Given the description of an element on the screen output the (x, y) to click on. 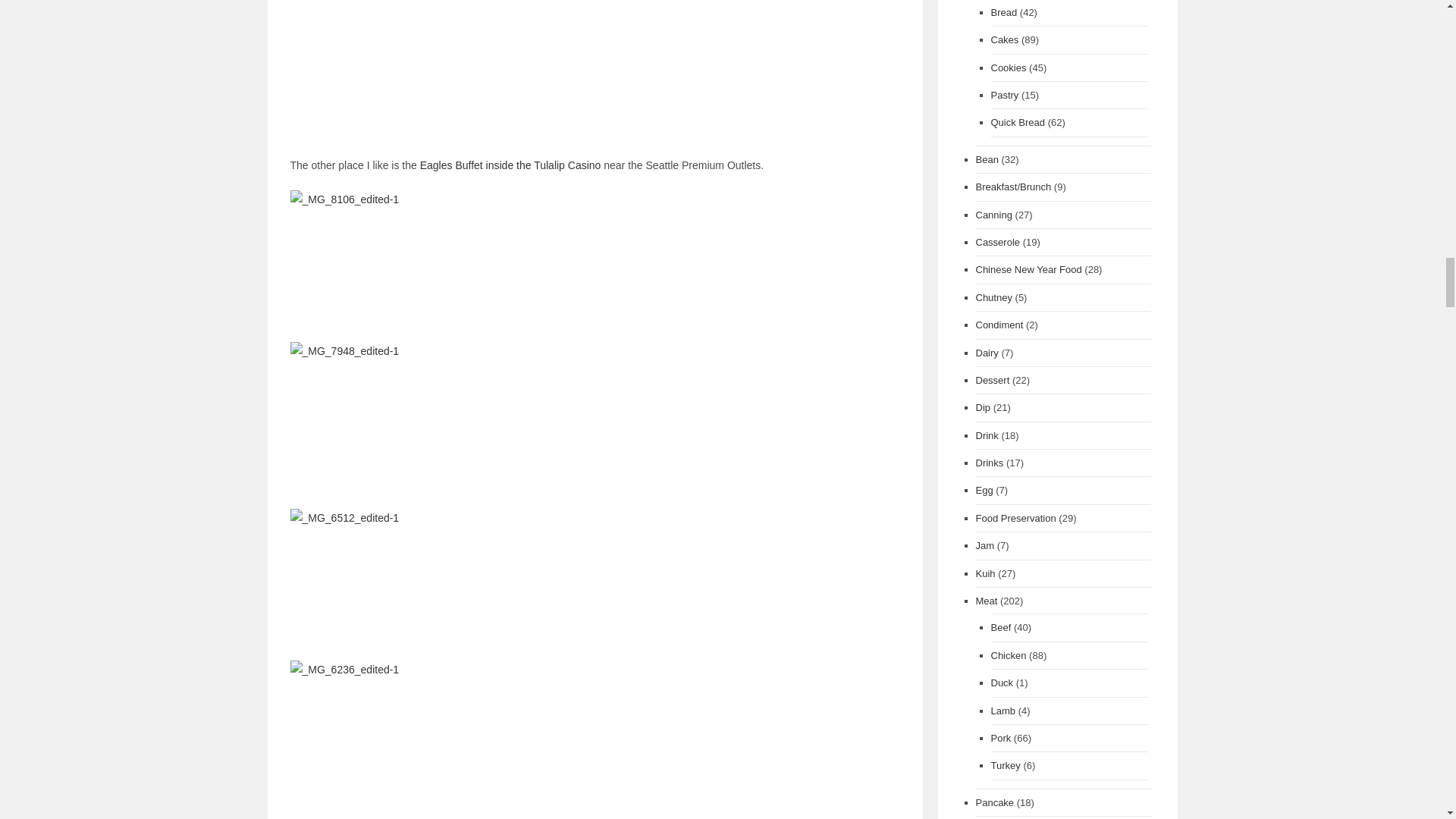
Eagles Buffet inside the Tulalip Casino (510, 164)
